Given the description of an element on the screen output the (x, y) to click on. 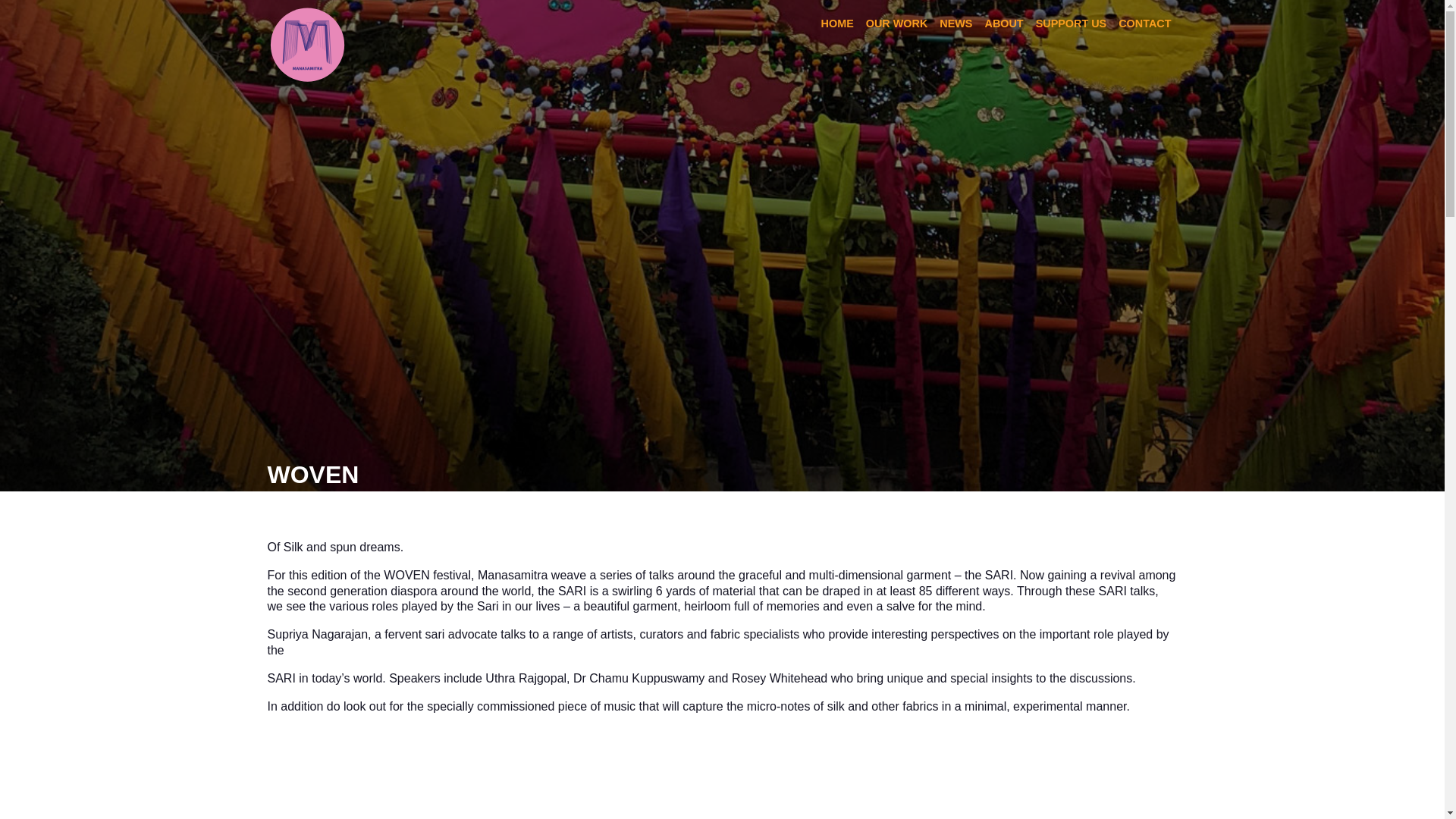
SUPPORT US (1071, 23)
ABOUT (1003, 23)
YouTube video player (721, 785)
NEWS (955, 23)
HOME (837, 23)
OUR WORK (897, 23)
CONTACT (1144, 23)
